Given the description of an element on the screen output the (x, y) to click on. 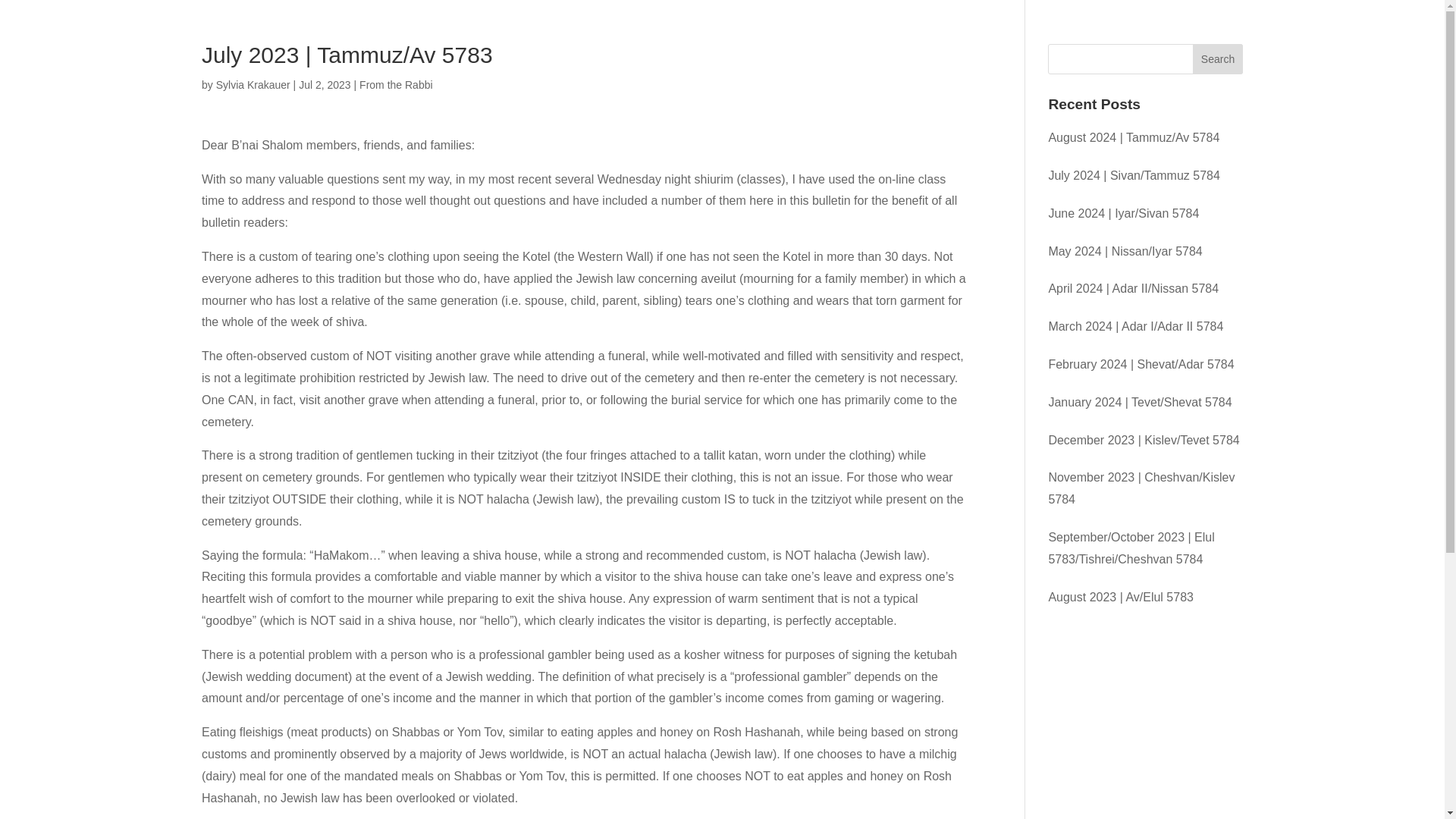
Sylvia Krakauer (252, 84)
Search (1217, 59)
From the Rabbi (395, 84)
Search (1217, 59)
Posts by Sylvia Krakauer (252, 84)
